Given the description of an element on the screen output the (x, y) to click on. 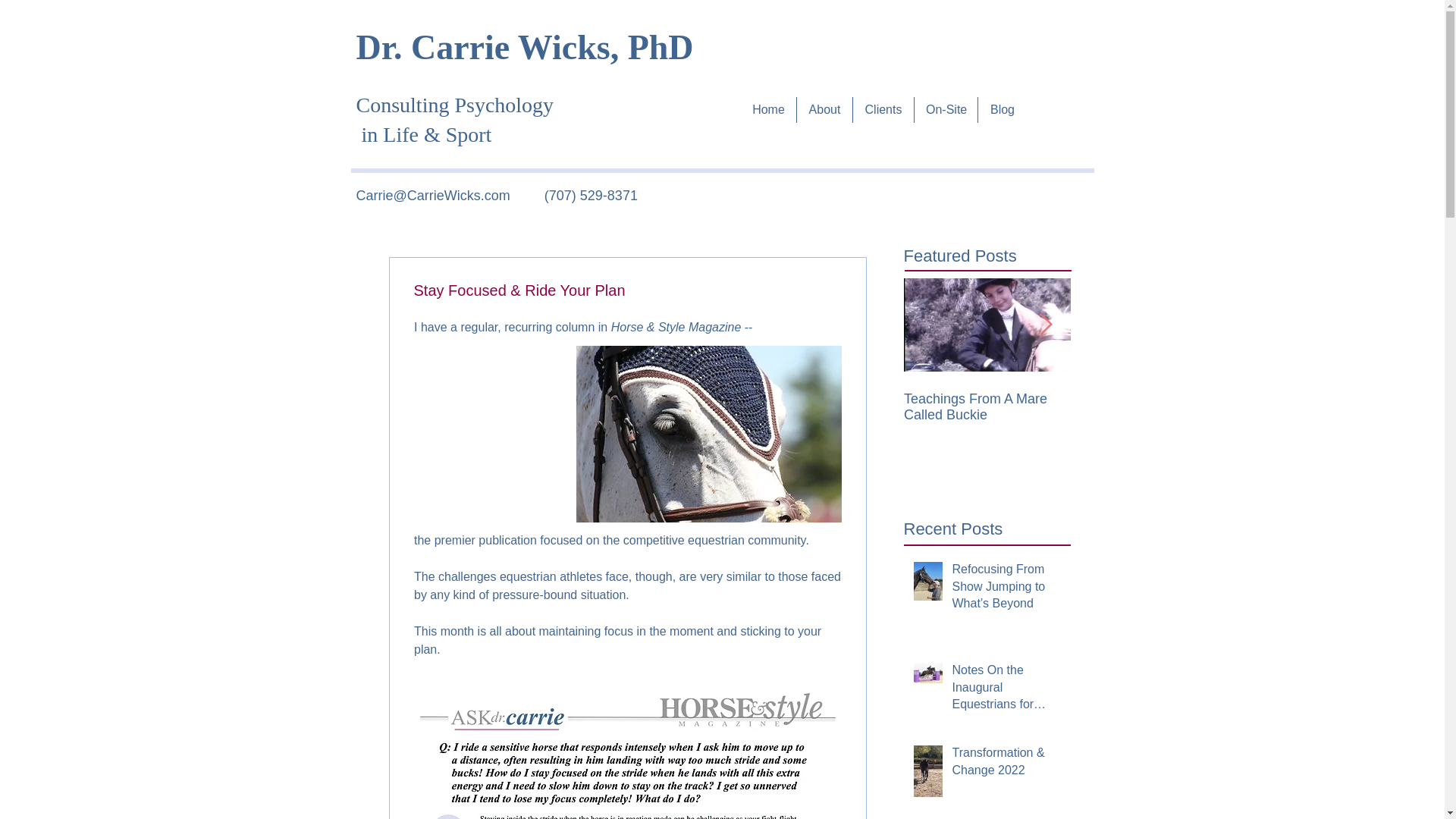
Clients (883, 109)
Pandemic Pondering and Potential Pivots (1153, 407)
Blog (1002, 109)
On-Site (945, 109)
Teachings From A Mare Called Buckie (987, 407)
About (823, 109)
Home (768, 109)
Consulting Psychology (455, 119)
Dr. Carrie Wicks, PhD (525, 46)
